Given the description of an element on the screen output the (x, y) to click on. 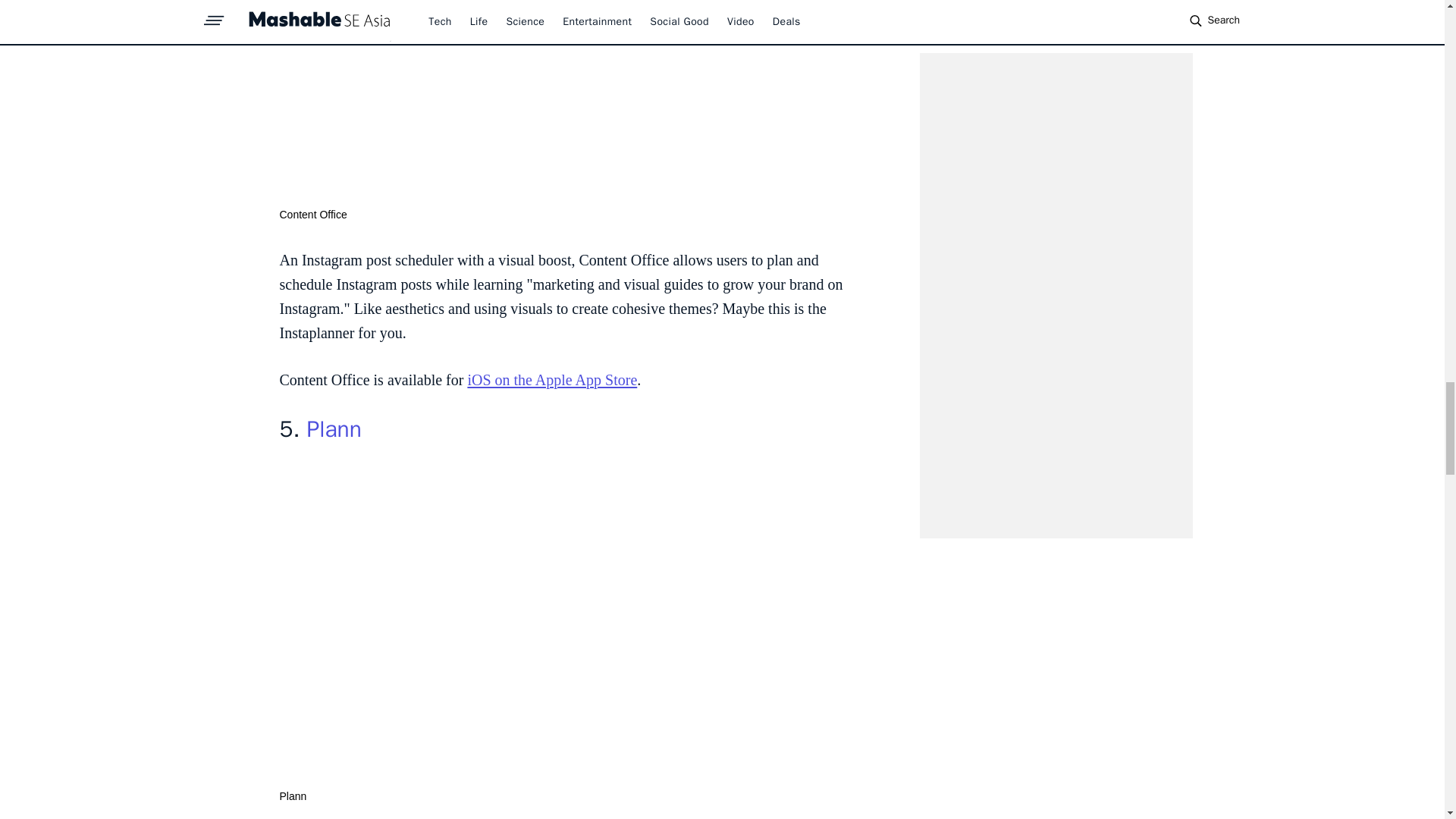
iOS on the Apple App Store (552, 379)
Plann (333, 428)
